Given the description of an element on the screen output the (x, y) to click on. 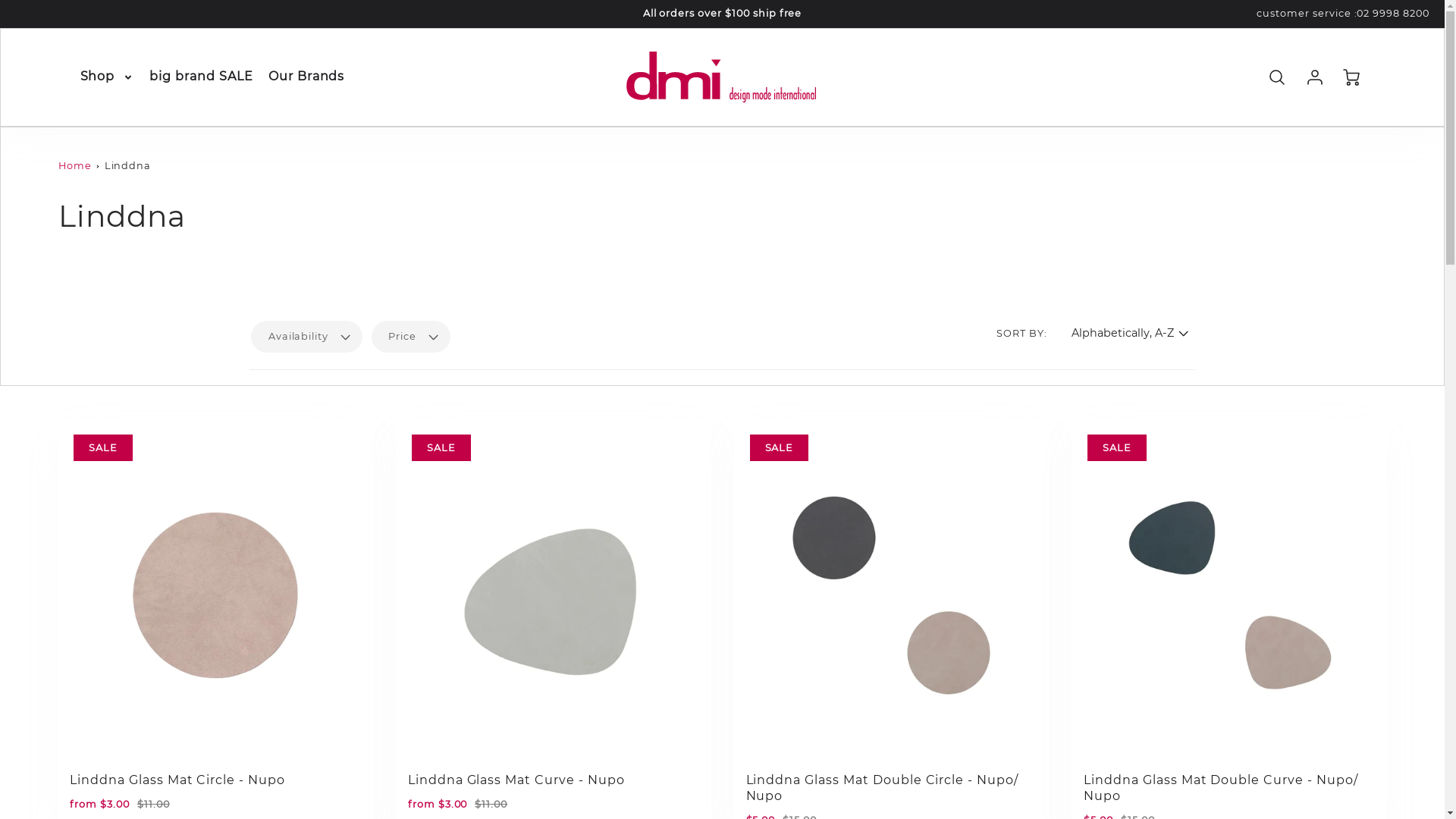
Cart Element type: text (1352, 77)
Linddna Glass Mat Curve - Nupo Element type: text (515, 779)
Linddna Glass Mat Double Curve - Nupo/ Nupo Element type: text (1220, 787)
Linddna Element type: text (127, 165)
Home Element type: text (74, 165)
Shop Element type: text (107, 76)
big brand SALE Element type: text (200, 76)
Account Login Element type: text (1314, 77)
Linddna Glass Mat Circle - Nupo Element type: text (177, 779)
Our Brands Element type: text (306, 76)
02 9998 8200 Element type: text (1392, 12)
Linddna Glass Mat Double Circle - Nupo/ Nupo Element type: text (882, 787)
